Given the description of an element on the screen output the (x, y) to click on. 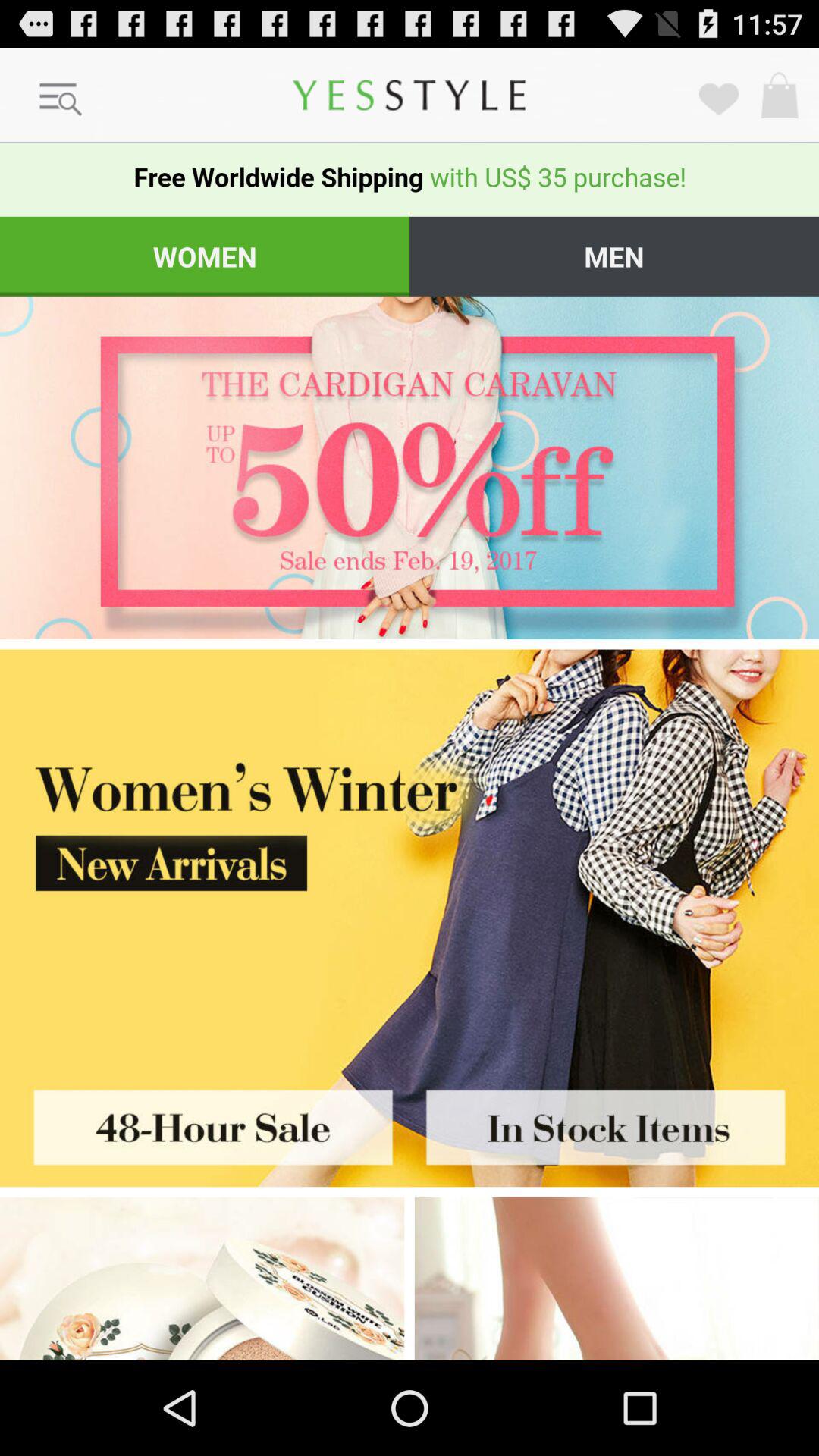
link to 50 off (409, 467)
